Given the description of an element on the screen output the (x, y) to click on. 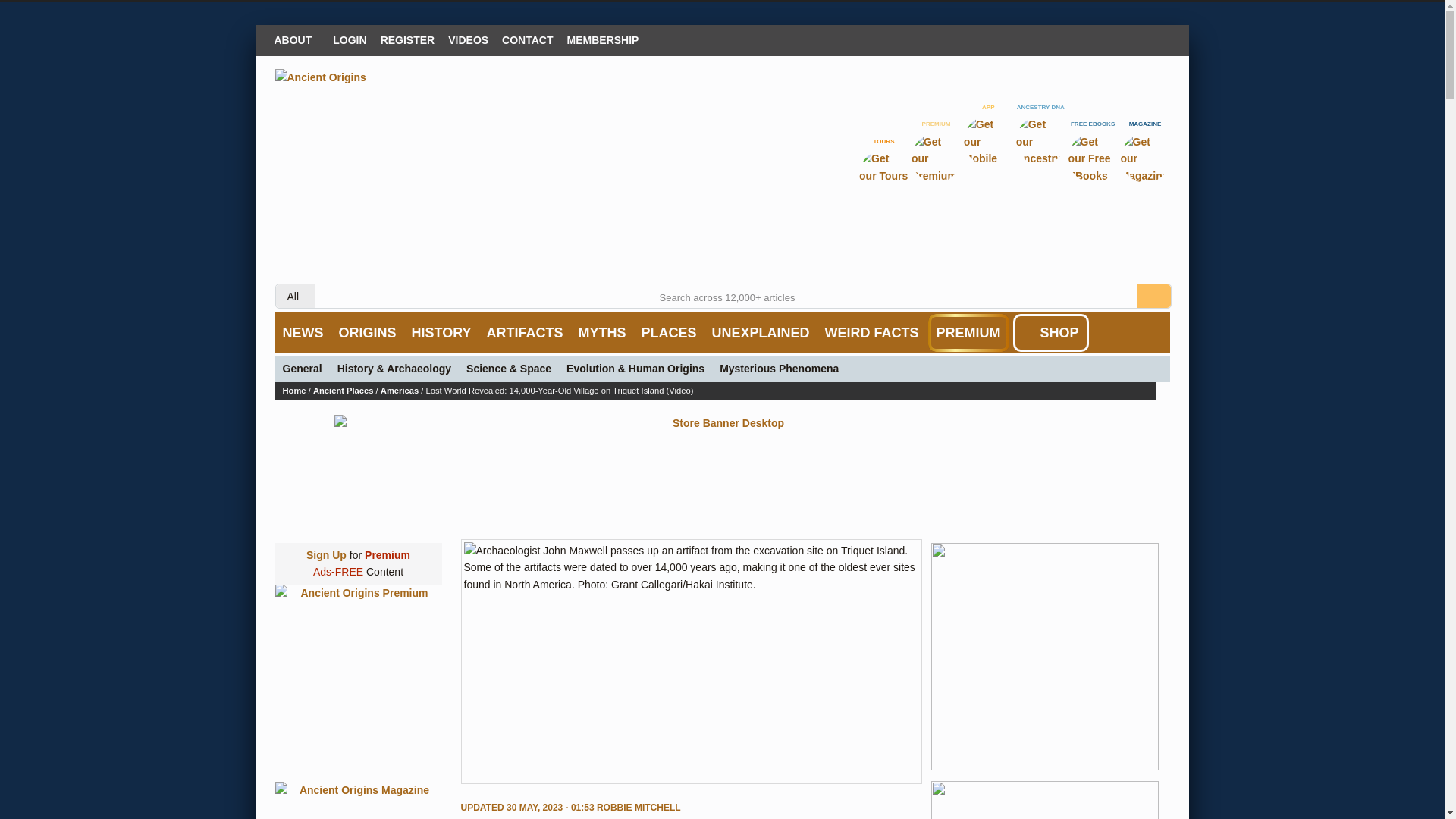
Our Mission (296, 40)
LOGIN (349, 40)
ABOUT (296, 40)
Find (1152, 295)
Login (349, 40)
MEMBERSHIP (603, 40)
CONTACT (526, 40)
REGISTER (408, 40)
VIDEOS (468, 40)
